Given the description of an element on the screen output the (x, y) to click on. 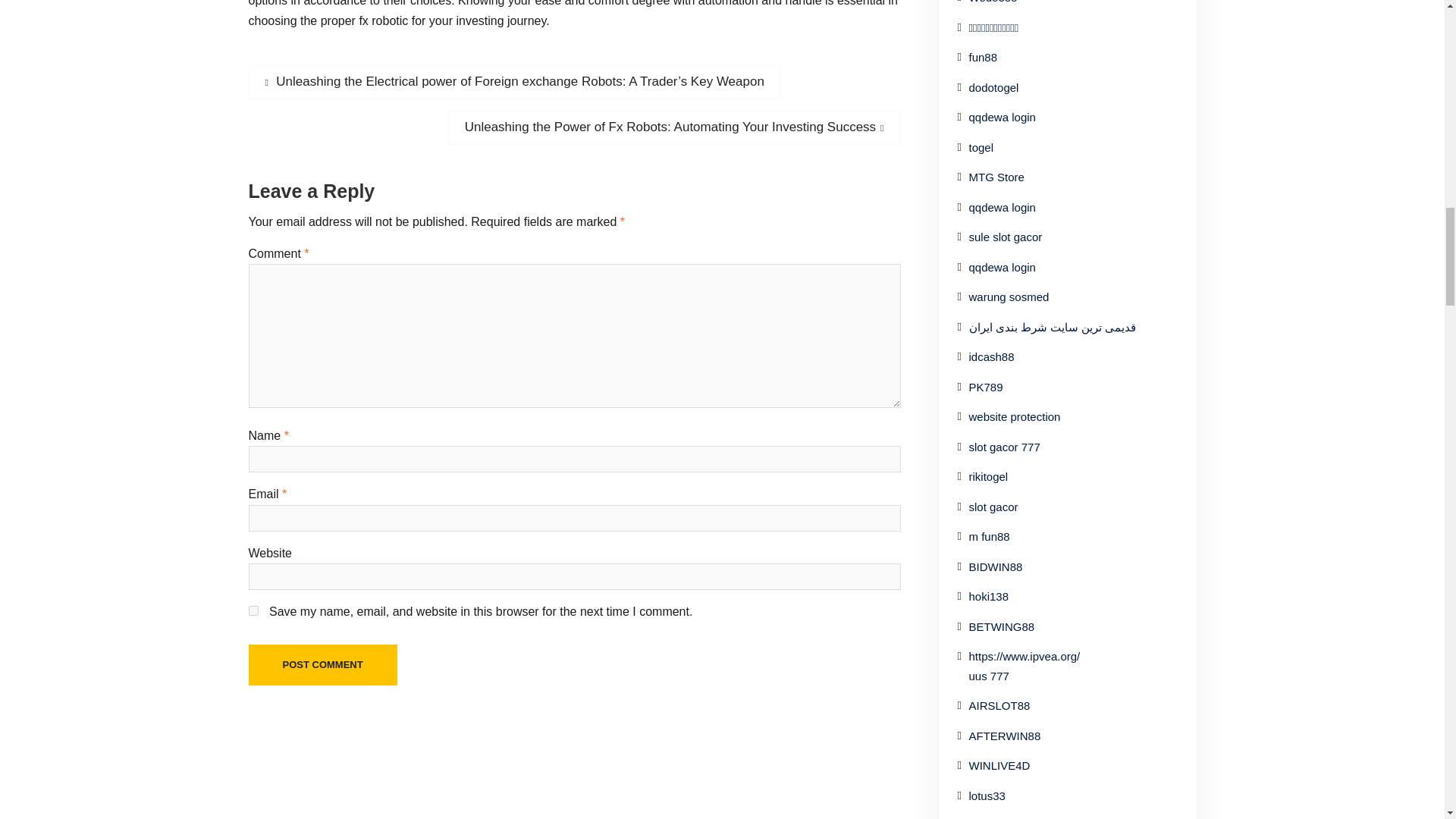
Post Comment (322, 664)
yes (253, 610)
Post Comment (322, 664)
